Given the description of an element on the screen output the (x, y) to click on. 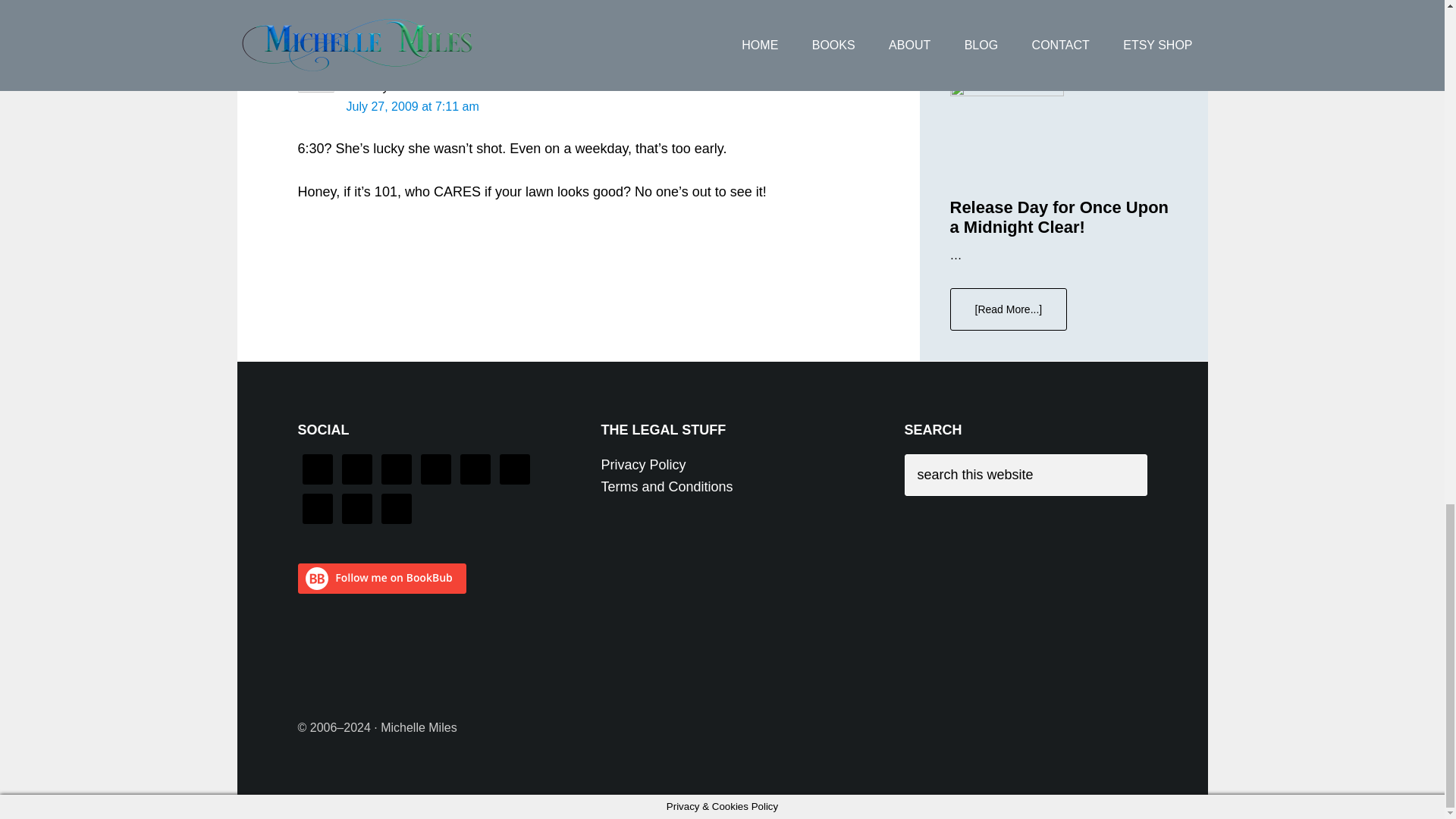
Lori (356, 86)
